Given the description of an element on the screen output the (x, y) to click on. 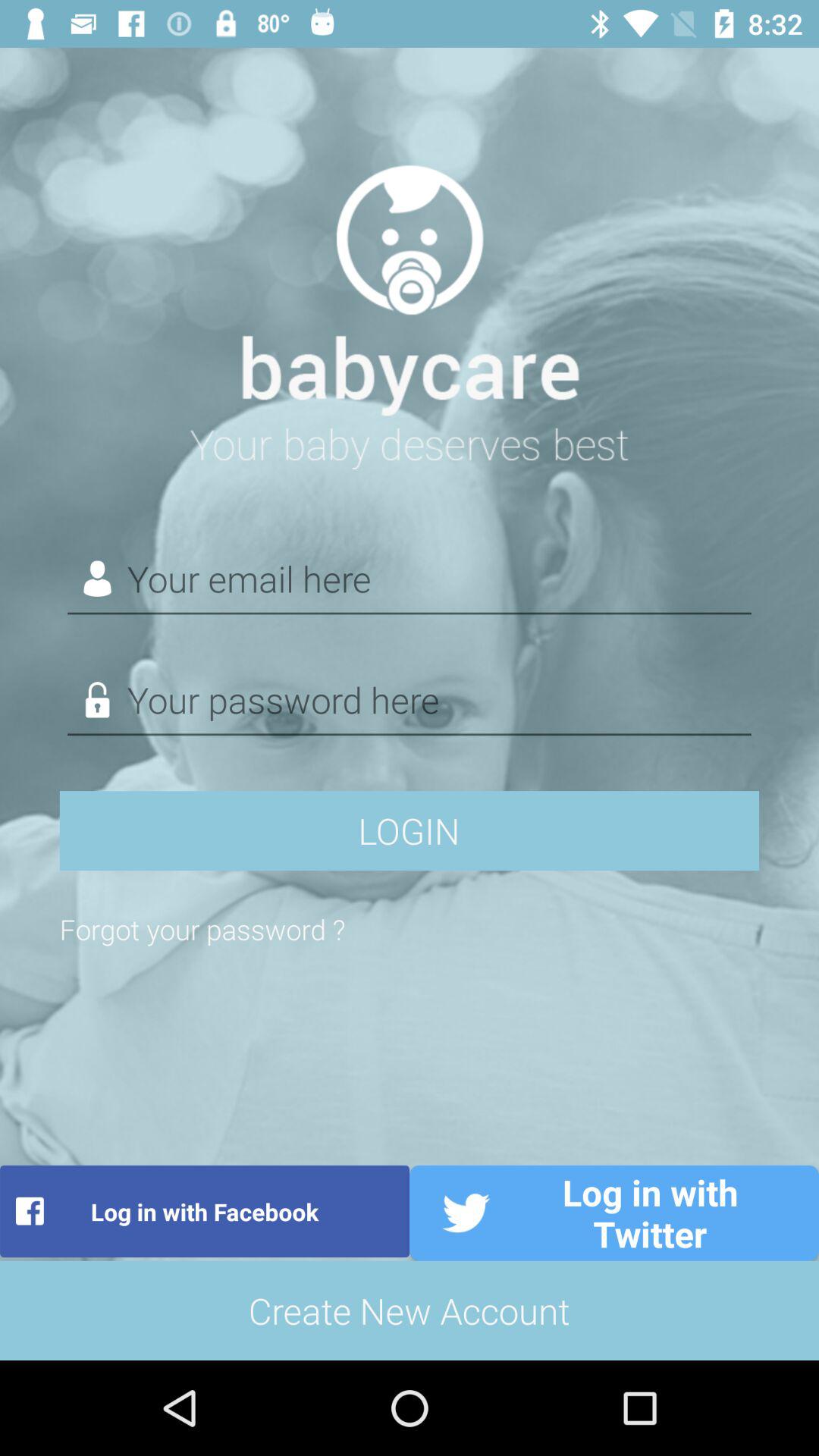
to enter password (409, 700)
